Given the description of an element on the screen output the (x, y) to click on. 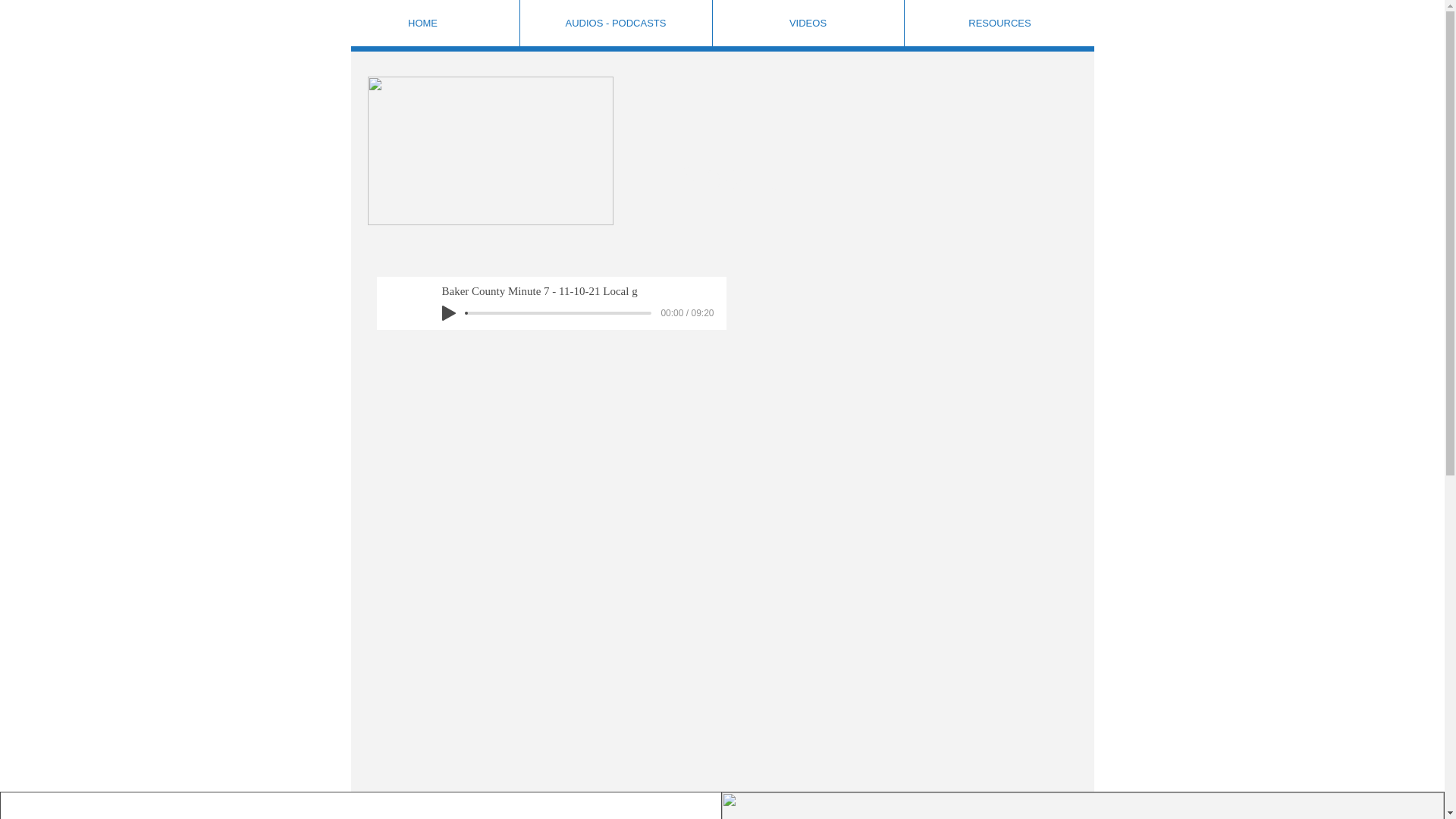
RESOURCES (1000, 22)
podcast pic.jpg (489, 150)
0 (557, 313)
VIDEOS (806, 22)
HOME (422, 22)
AUDIOS - PODCASTS (614, 22)
